Given the description of an element on the screen output the (x, y) to click on. 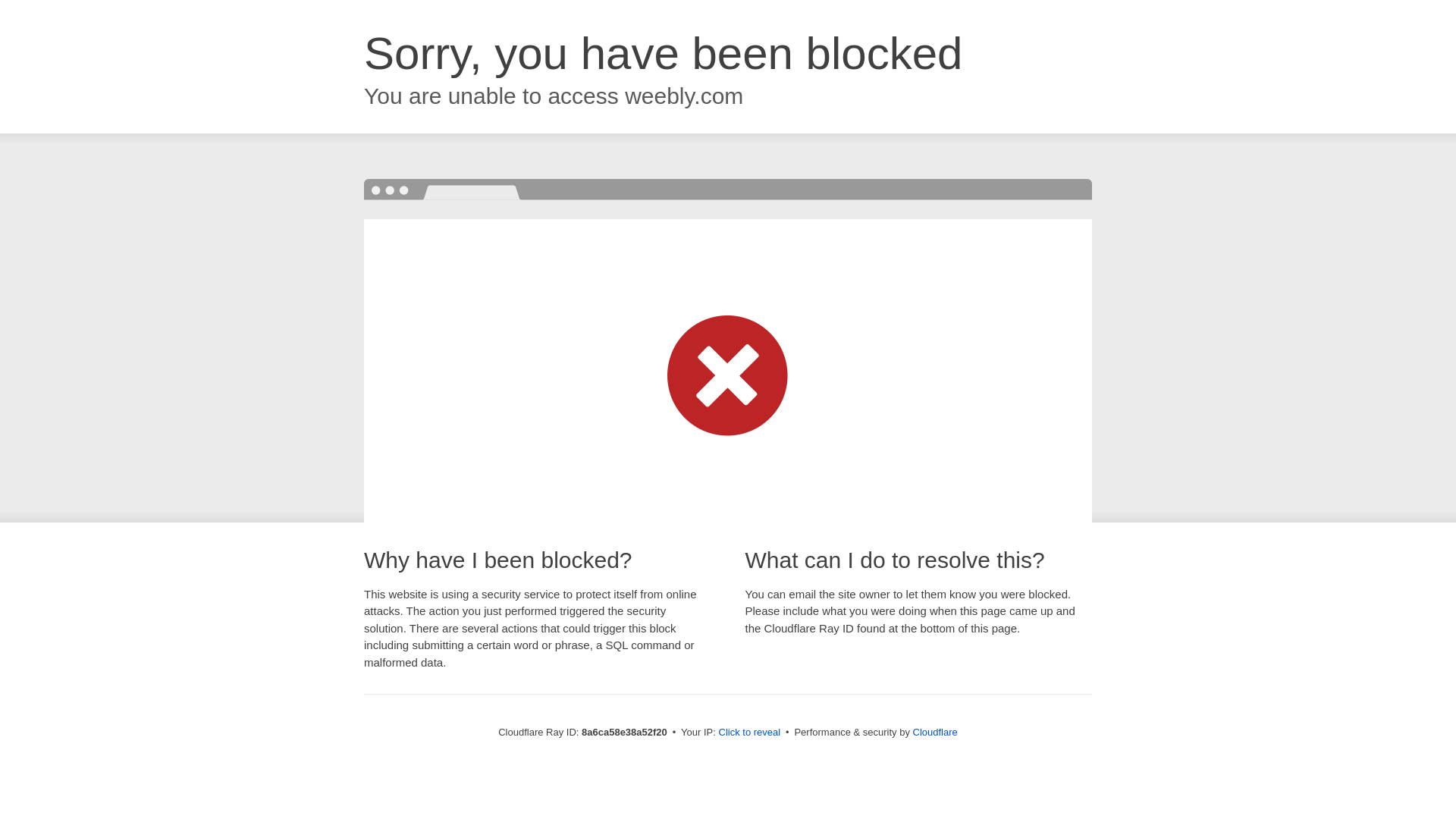
Click to reveal (749, 732)
Cloudflare (935, 731)
